Given the description of an element on the screen output the (x, y) to click on. 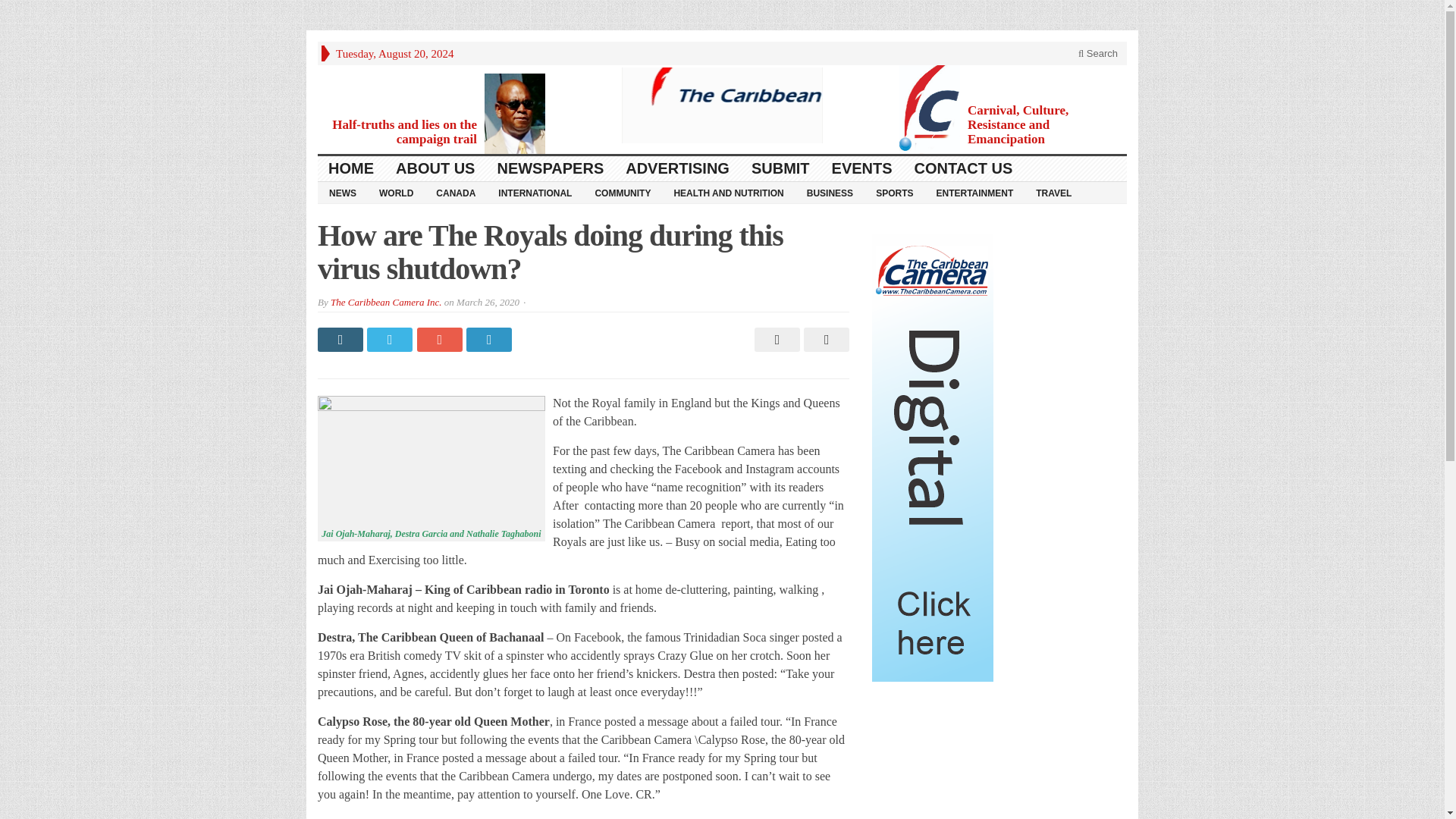
Send by Email (823, 339)
WORLD (396, 192)
ABOUT US (435, 168)
Share on Facebook (341, 339)
CONTACT US (964, 168)
The Caribbean Camera (721, 105)
SUBMIT (781, 168)
Half-truths and lies on the campaign trail (404, 131)
Share on Twitter (391, 339)
Search (1097, 53)
